Given the description of an element on the screen output the (x, y) to click on. 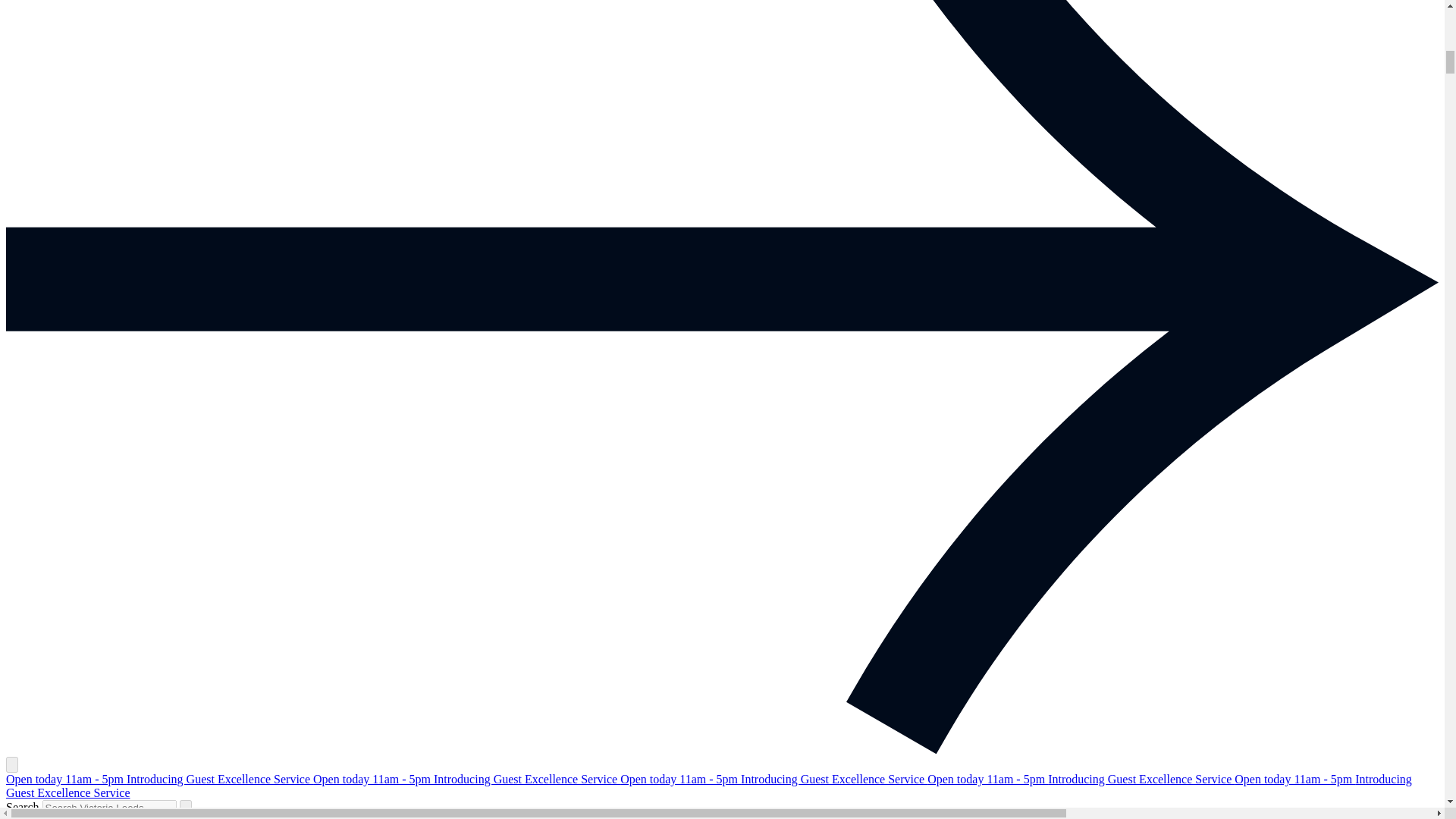
Introducing Guest Excellence Service (708, 786)
Open today 11am - 5pm (1294, 779)
Open today 11am - 5pm (987, 779)
Introducing Guest Excellence Service (526, 779)
Introducing Guest Excellence Service (219, 779)
Open today 11am - 5pm (680, 779)
Open today 11am - 5pm (373, 779)
Introducing Guest Excellence Service (1141, 779)
Introducing Guest Excellence Service (834, 779)
